Given the description of an element on the screen output the (x, y) to click on. 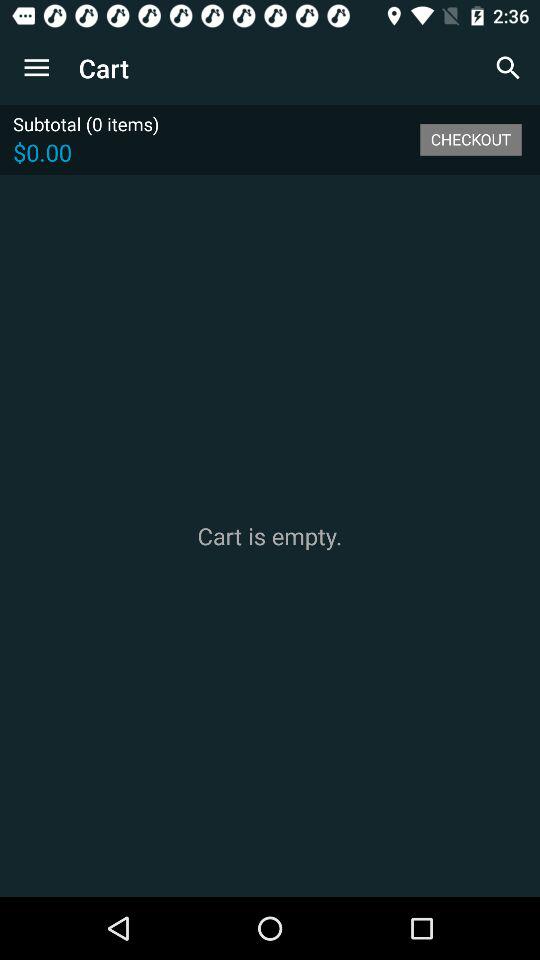
select the item to the right of the subtotal (0 items) (470, 139)
